Given the description of an element on the screen output the (x, y) to click on. 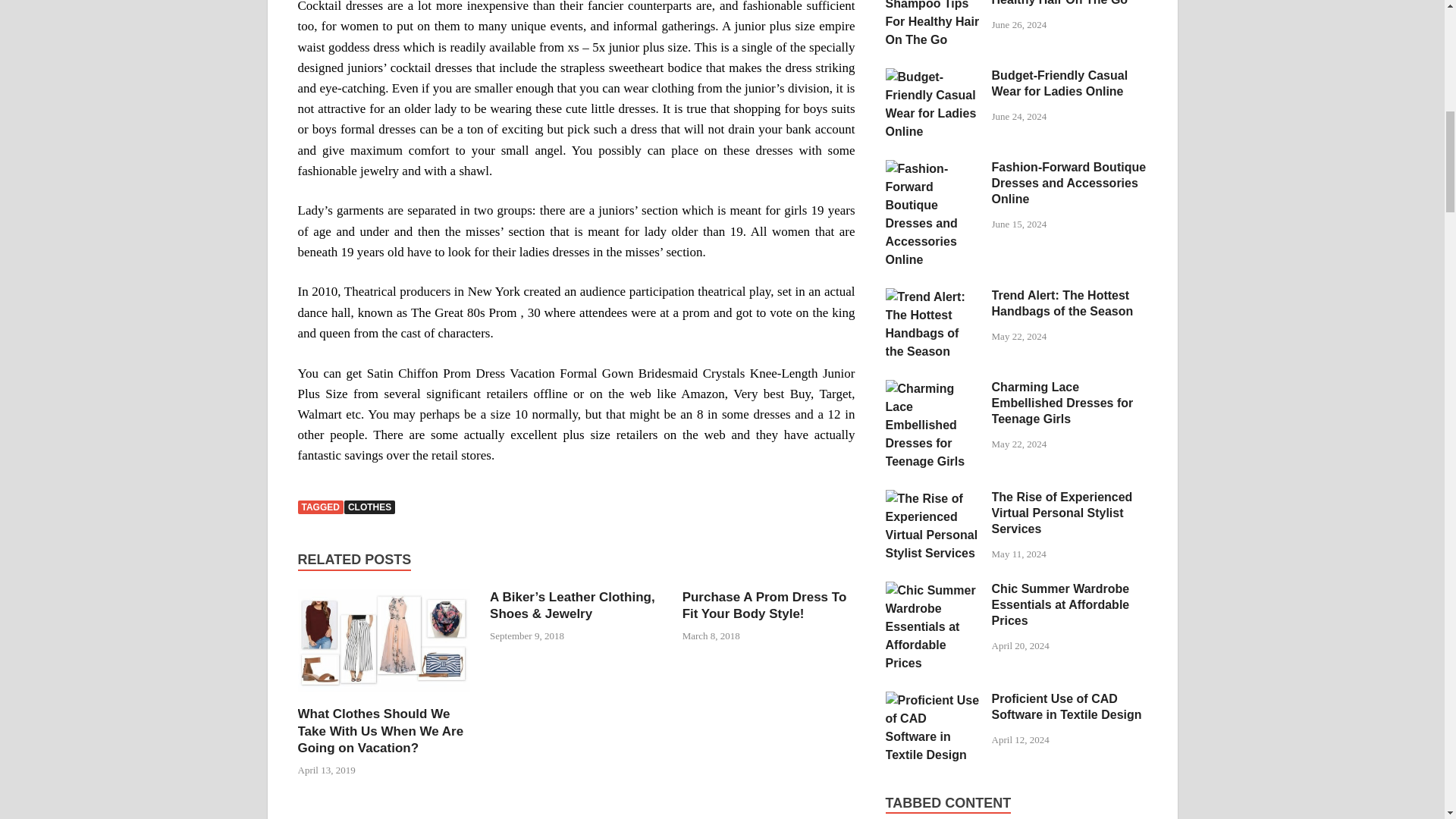
Purchase A Prom Dress To Fit Your Body Style! (764, 604)
Charming Lace Embellished Dresses for Teenage Girls (932, 388)
Trend Alert: The Hottest Handbags of the Season (932, 296)
The Rise of Experienced Virtual Personal Stylist Services (932, 498)
Budget-Friendly Casual Wear for Ladies Online (932, 76)
Fashion-Forward Boutique Dresses and Accessories Online (932, 168)
